Given the description of an element on the screen output the (x, y) to click on. 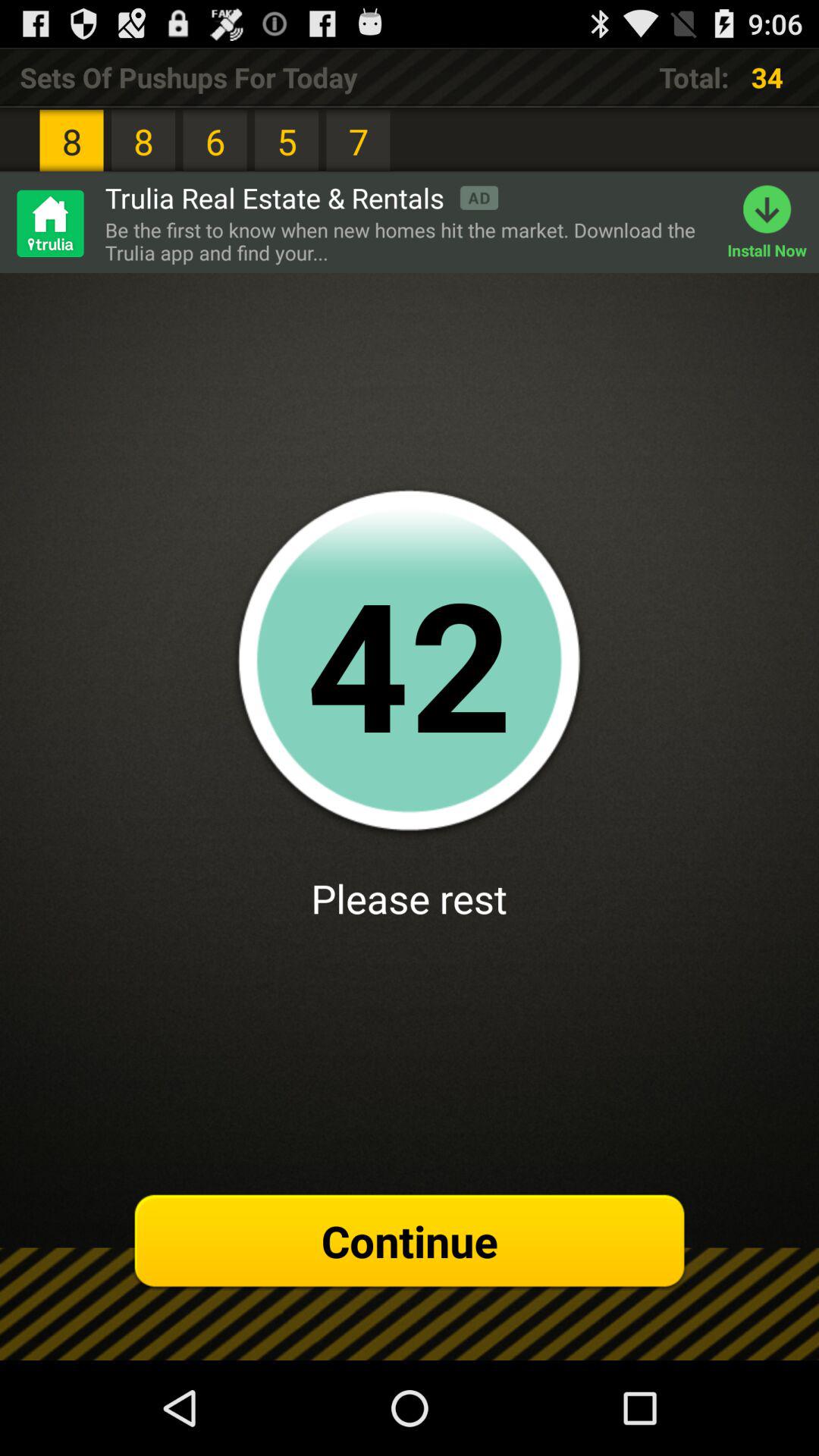
click the item to the left of install now icon (408, 241)
